Given the description of an element on the screen output the (x, y) to click on. 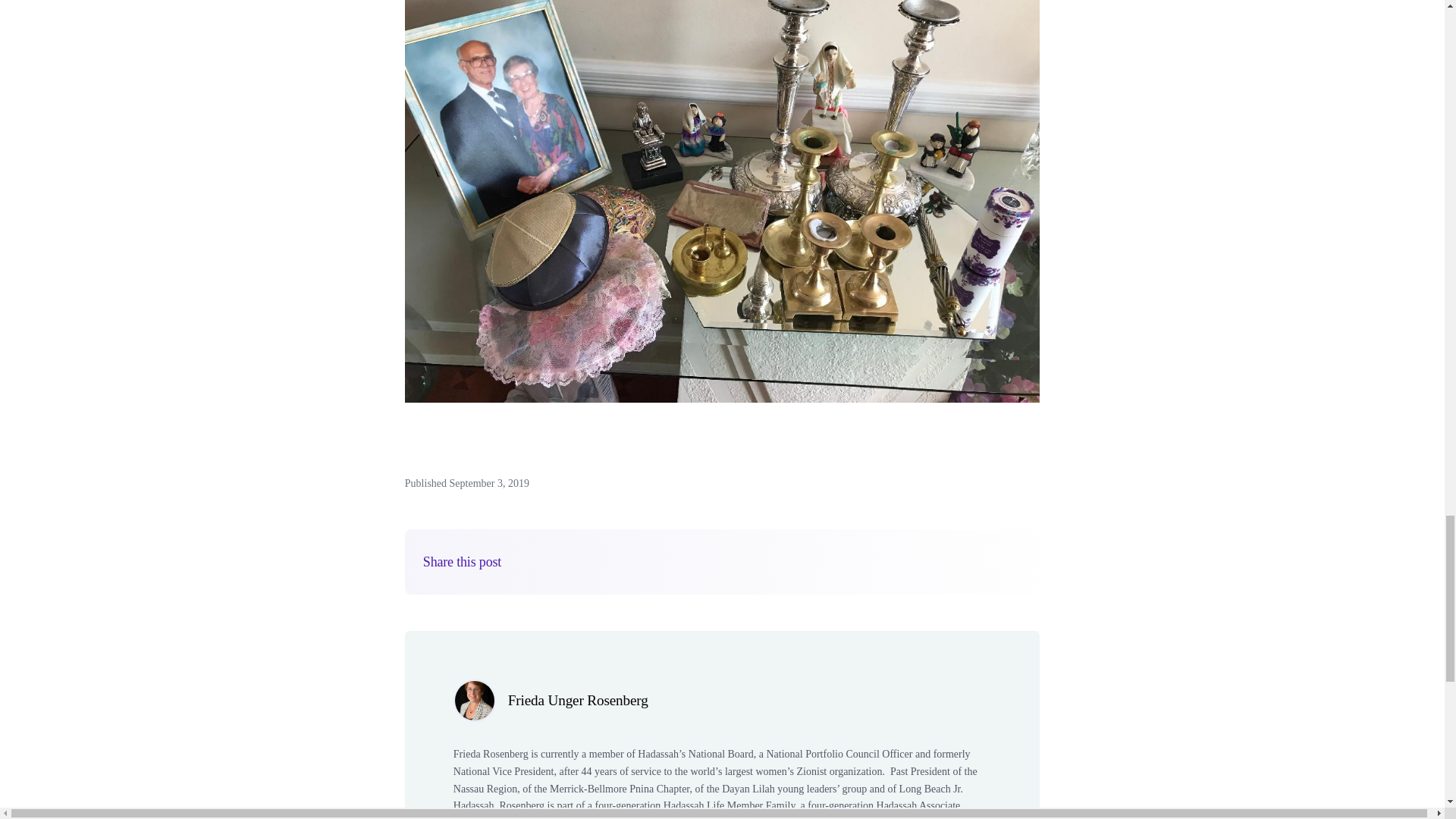
Frieda Unger Rosenberg (577, 700)
